Given the description of an element on the screen output the (x, y) to click on. 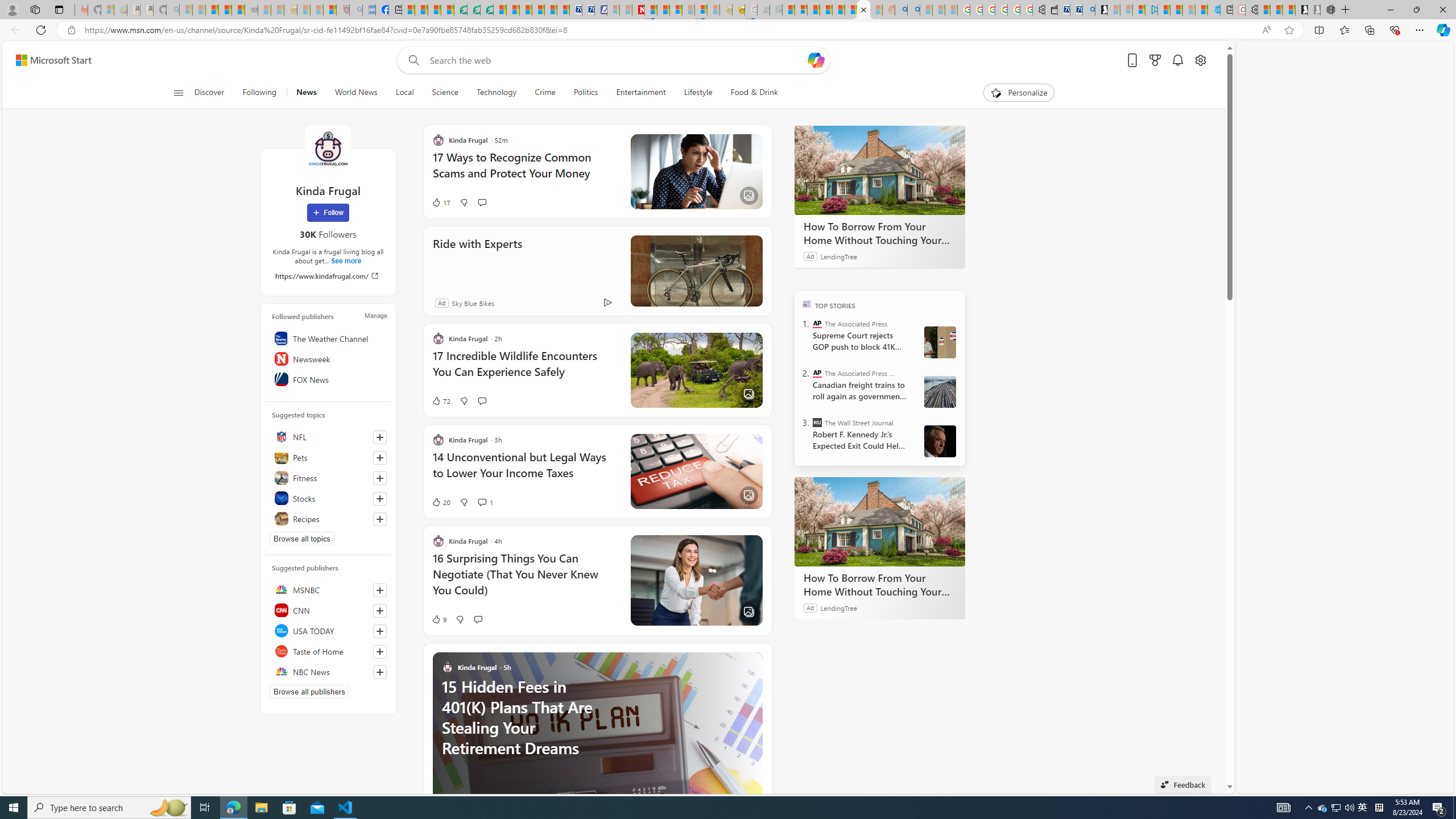
World News (355, 92)
Microsoft Word - consumer-privacy address update 2.2021 (486, 9)
Pets (327, 456)
New Report Confirms 2023 Was Record Hot | Watch (237, 9)
Open Copilot (815, 59)
Personalize (1019, 92)
Combat Siege (251, 9)
